Given the description of an element on the screen output the (x, y) to click on. 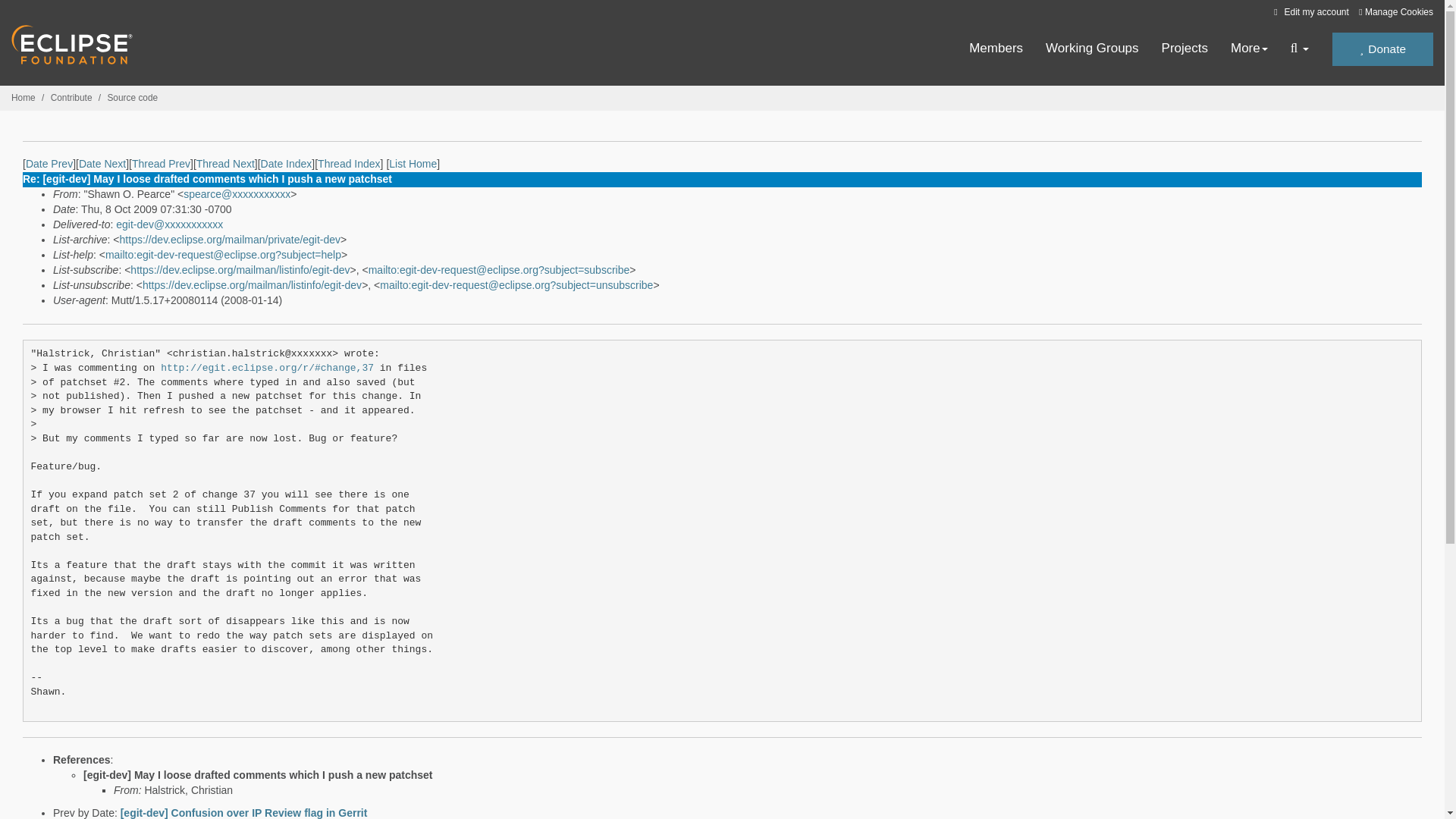
More (1249, 48)
Edit my account (1309, 11)
Donate (1382, 49)
Manage Cookies (1395, 12)
Working Groups (1091, 48)
Members (996, 48)
Projects (1184, 48)
